Given the description of an element on the screen output the (x, y) to click on. 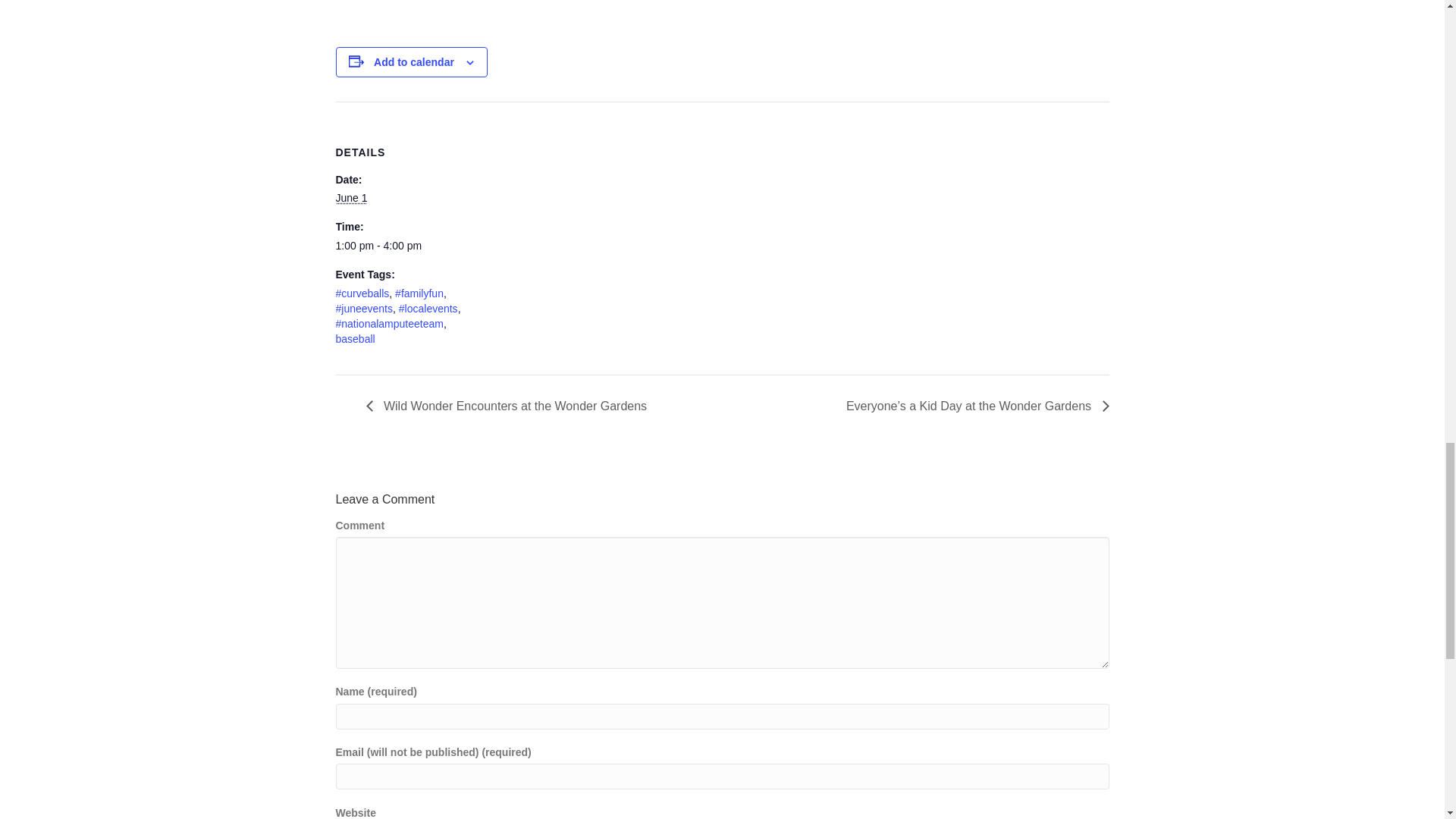
2024-06-01 (398, 246)
2024-06-01 (350, 197)
